Given the description of an element on the screen output the (x, y) to click on. 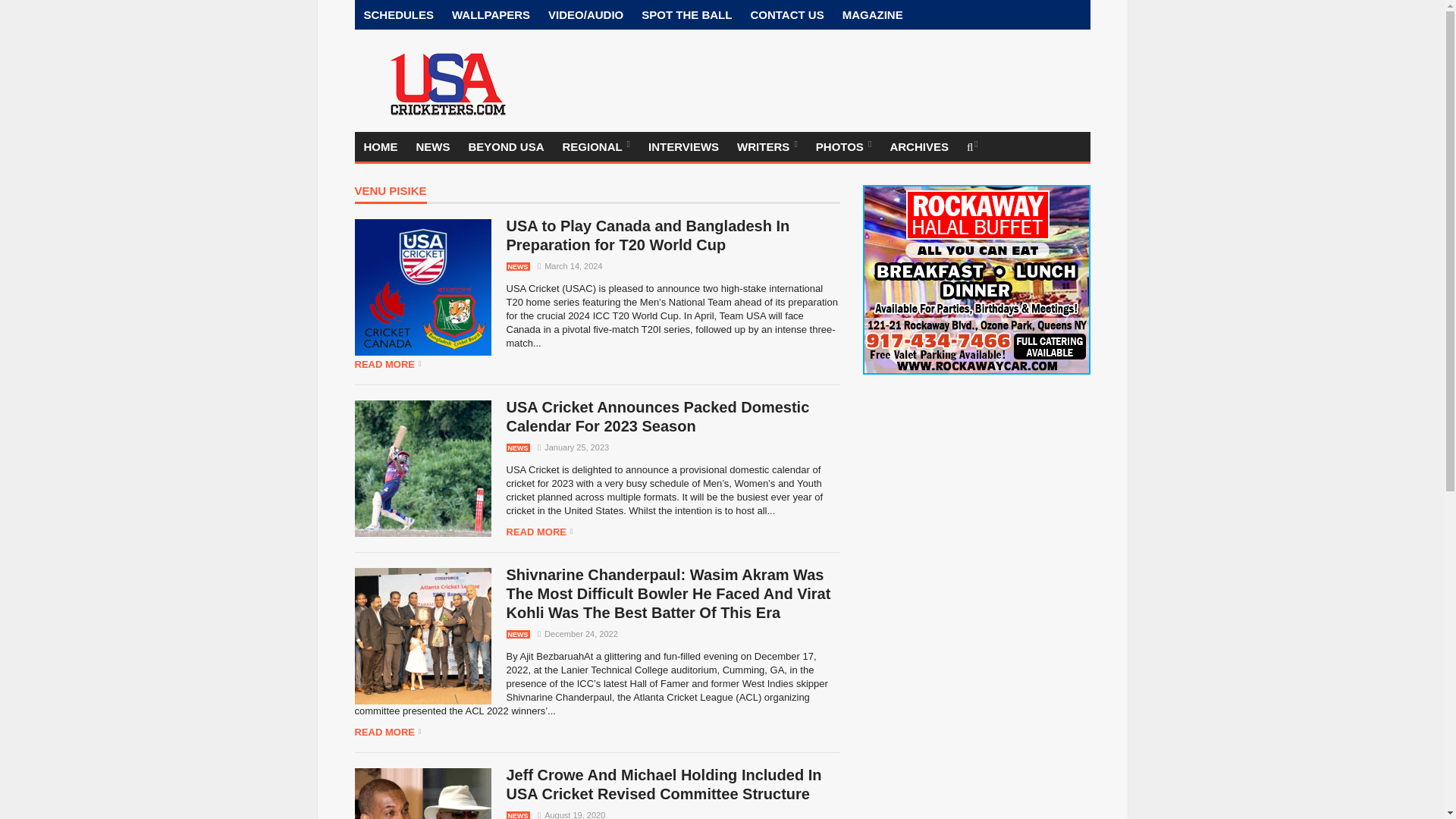
WALLPAPERS (490, 14)
Beyond USA (506, 146)
Wallpapers (490, 14)
Regional (596, 146)
Contact Us (786, 14)
Schedules (399, 14)
SPOT THE BALL (686, 14)
CONTACT US (786, 14)
MAGAZINE (872, 14)
Magazine (872, 14)
